Given the description of an element on the screen output the (x, y) to click on. 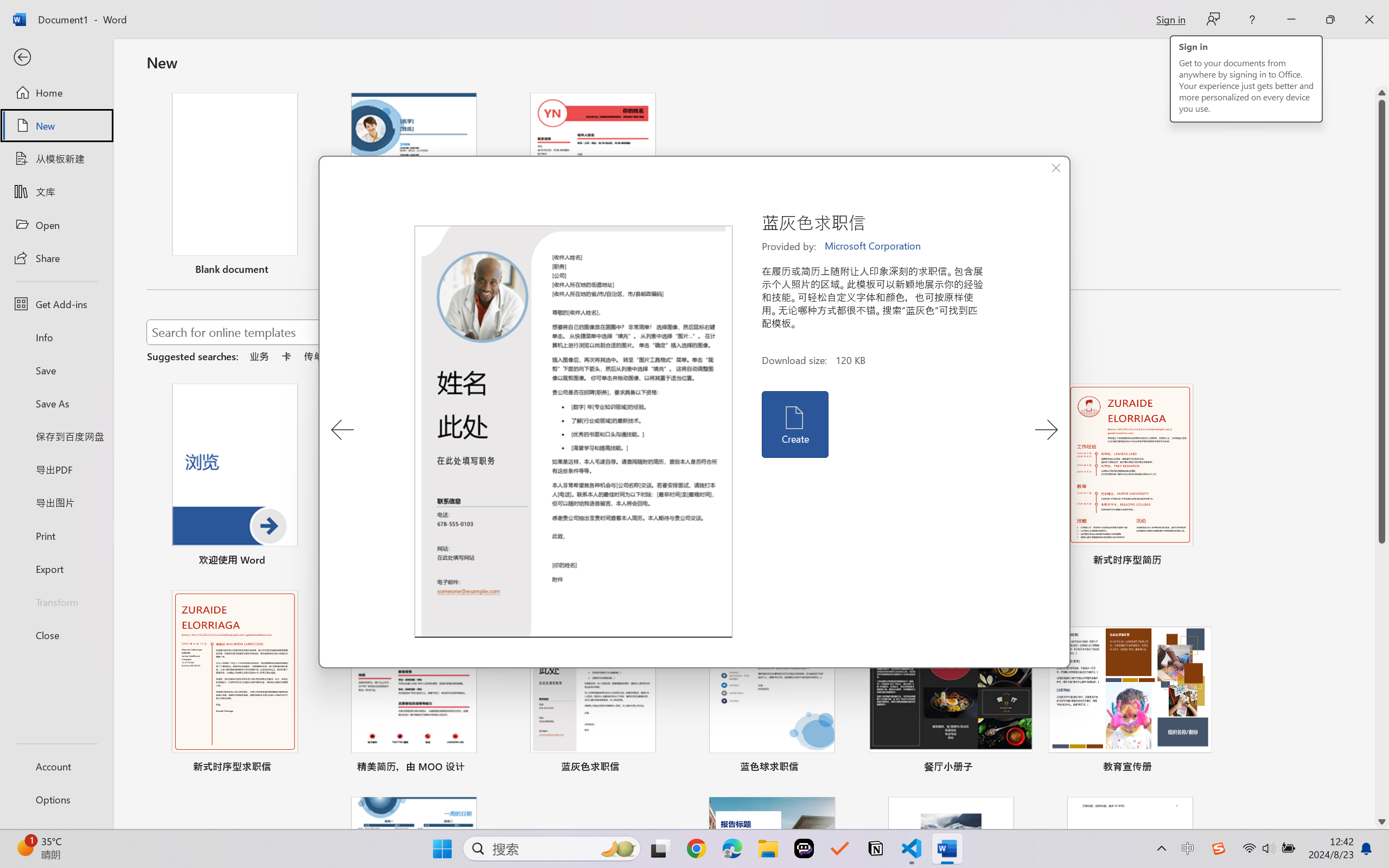
Create (794, 424)
Export (56, 568)
Blank document (234, 185)
Account (56, 765)
Previous Template (342, 430)
